Given the description of an element on the screen output the (x, y) to click on. 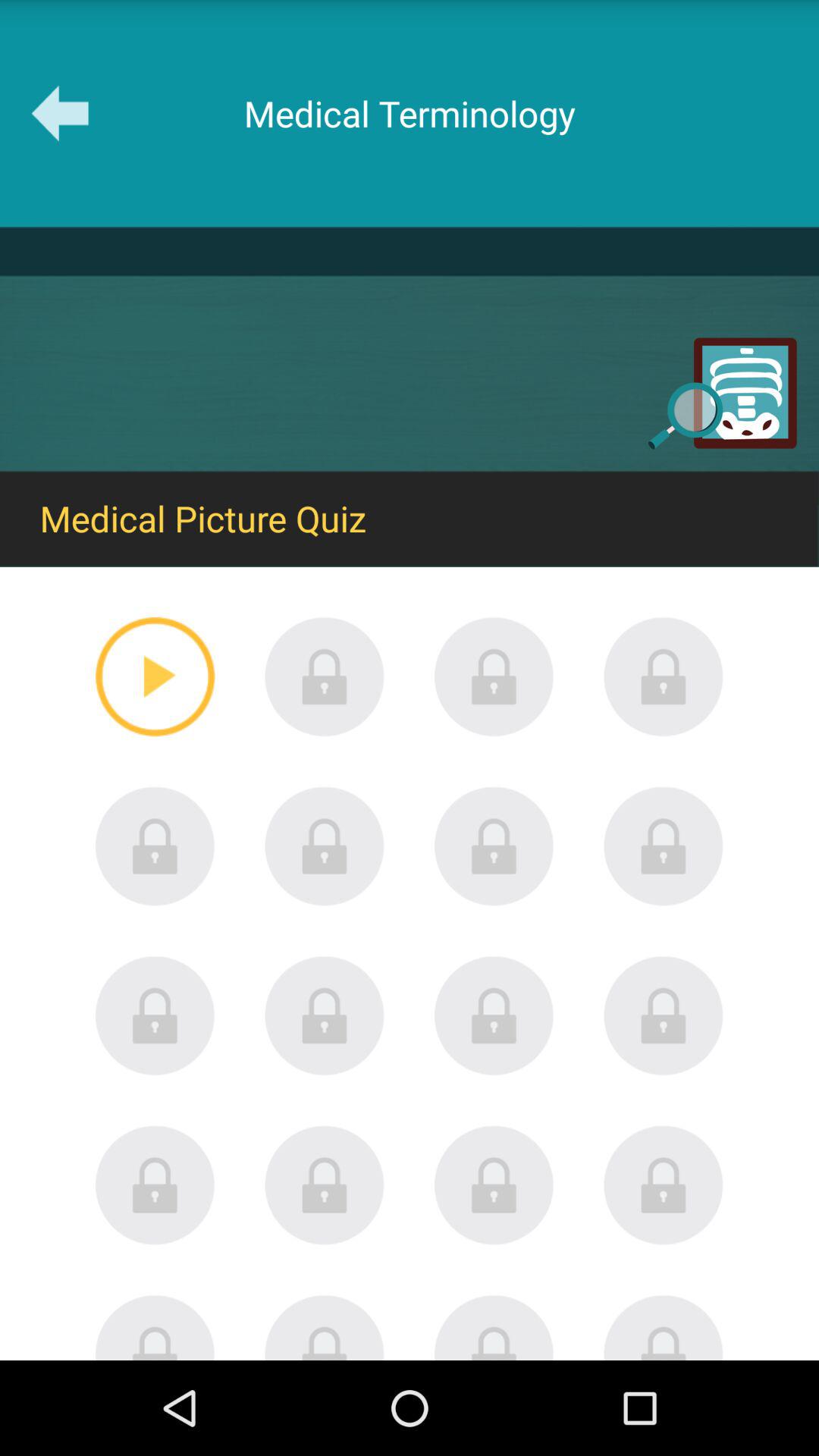
open quiz 6 (324, 846)
